Given the description of an element on the screen output the (x, y) to click on. 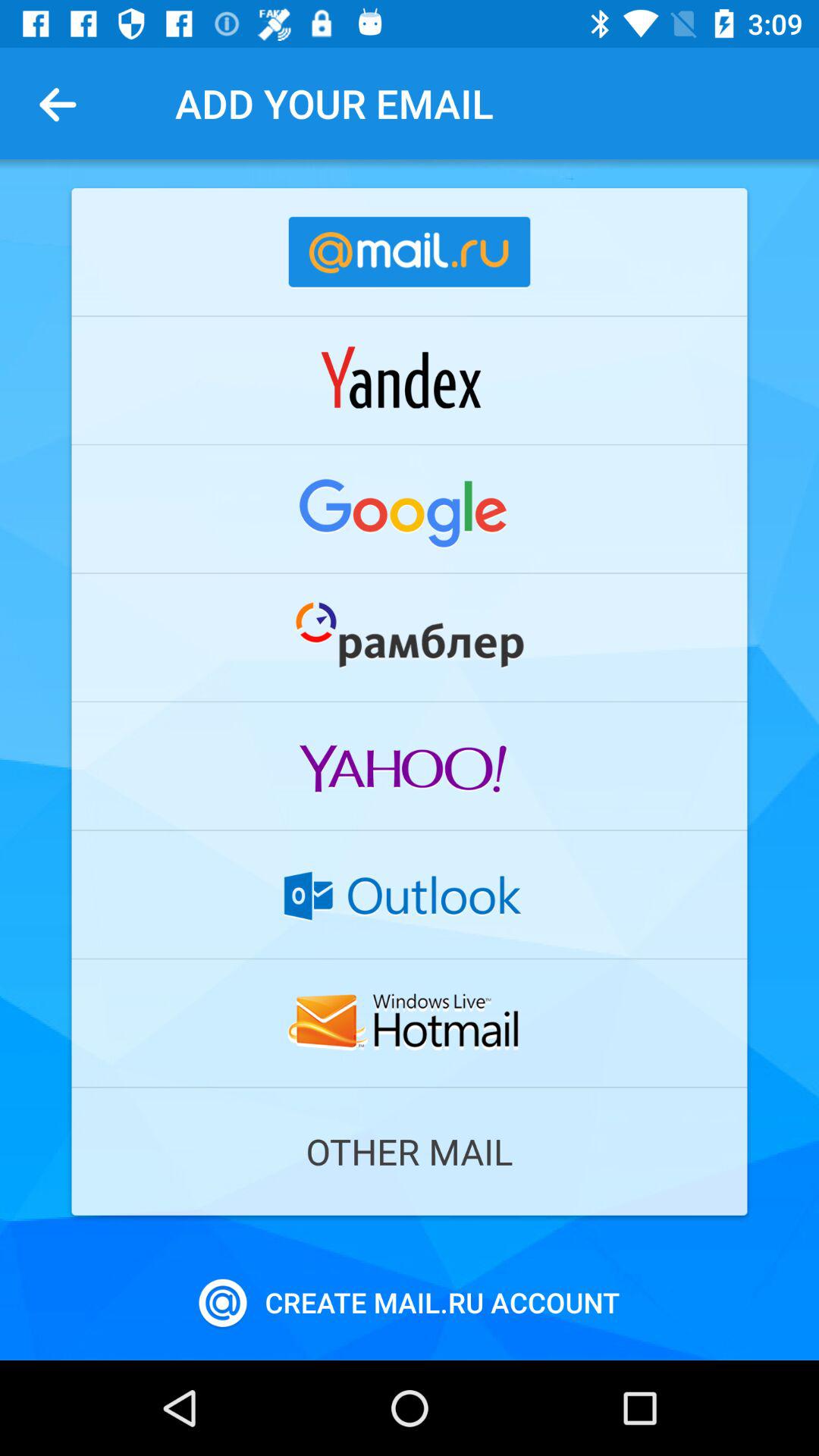
yandex email selection box (409, 380)
